Given the description of an element on the screen output the (x, y) to click on. 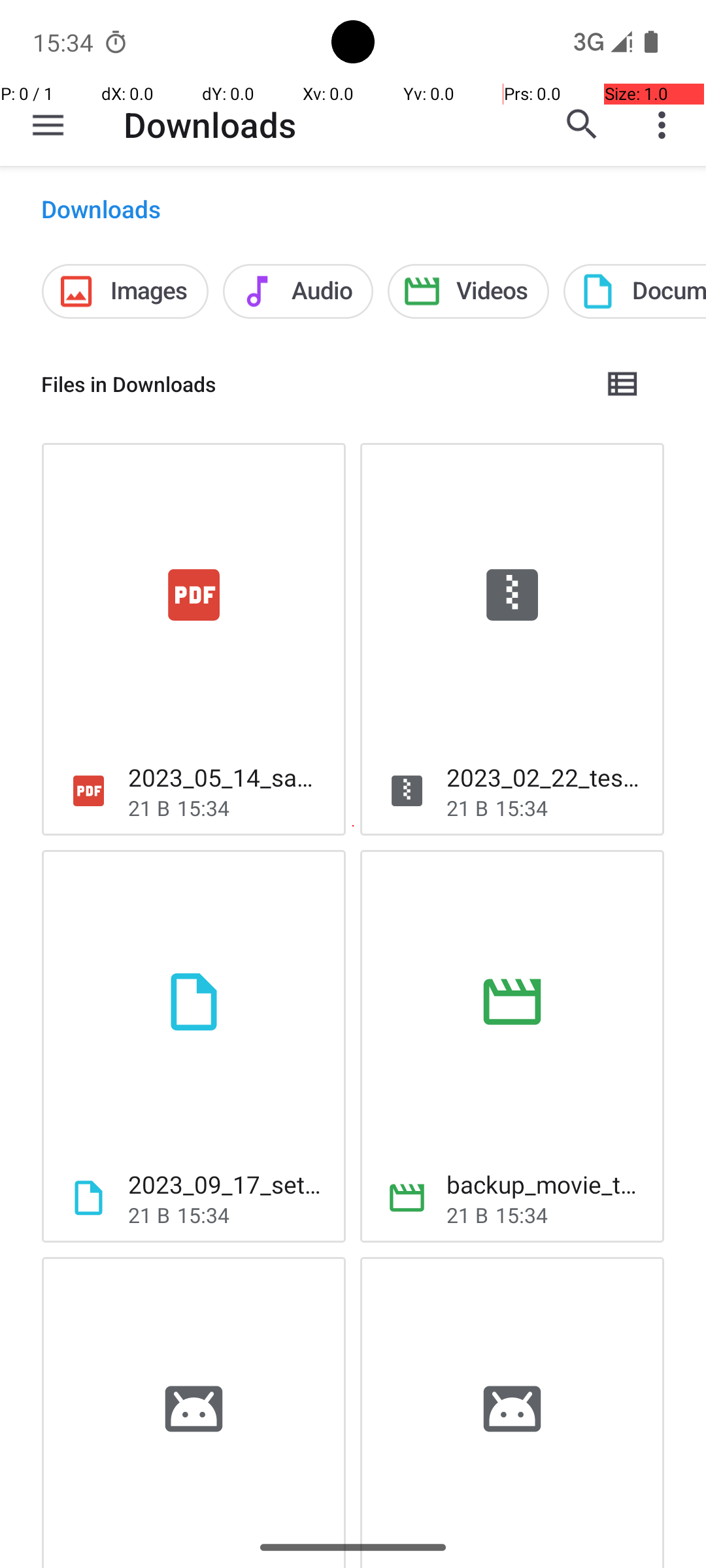
2023_05_14_sample_pdf.pdf Element type: android.widget.TextView (226, 776)
21 B Element type: android.widget.TextView (148, 807)
2023_02_22_test_download.zip Element type: android.widget.TextView (544, 776)
2023_09_17_setup_exe.exe Element type: android.widget.TextView (226, 1183)
backup_movie_trailer.mp4 Element type: android.widget.TextView (544, 1183)
